Given the description of an element on the screen output the (x, y) to click on. 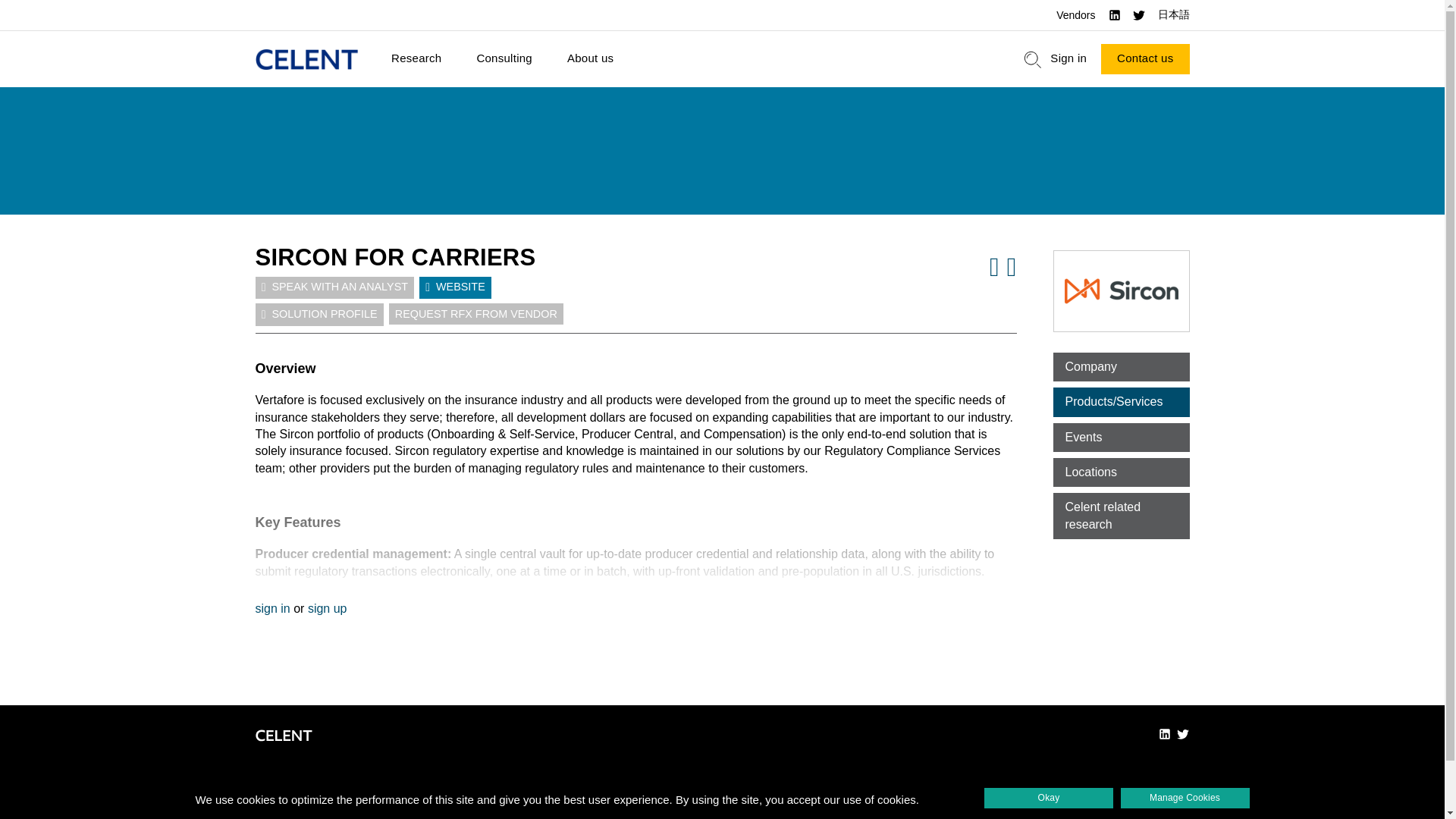
Sign in (1068, 59)
Contact us (1144, 59)
Manage Cookies (1185, 797)
search (1032, 58)
About us (590, 59)
Home (306, 59)
Vendors (1075, 15)
Okay (1048, 797)
Consulting (503, 59)
Research (415, 59)
